Given the description of an element on the screen output the (x, y) to click on. 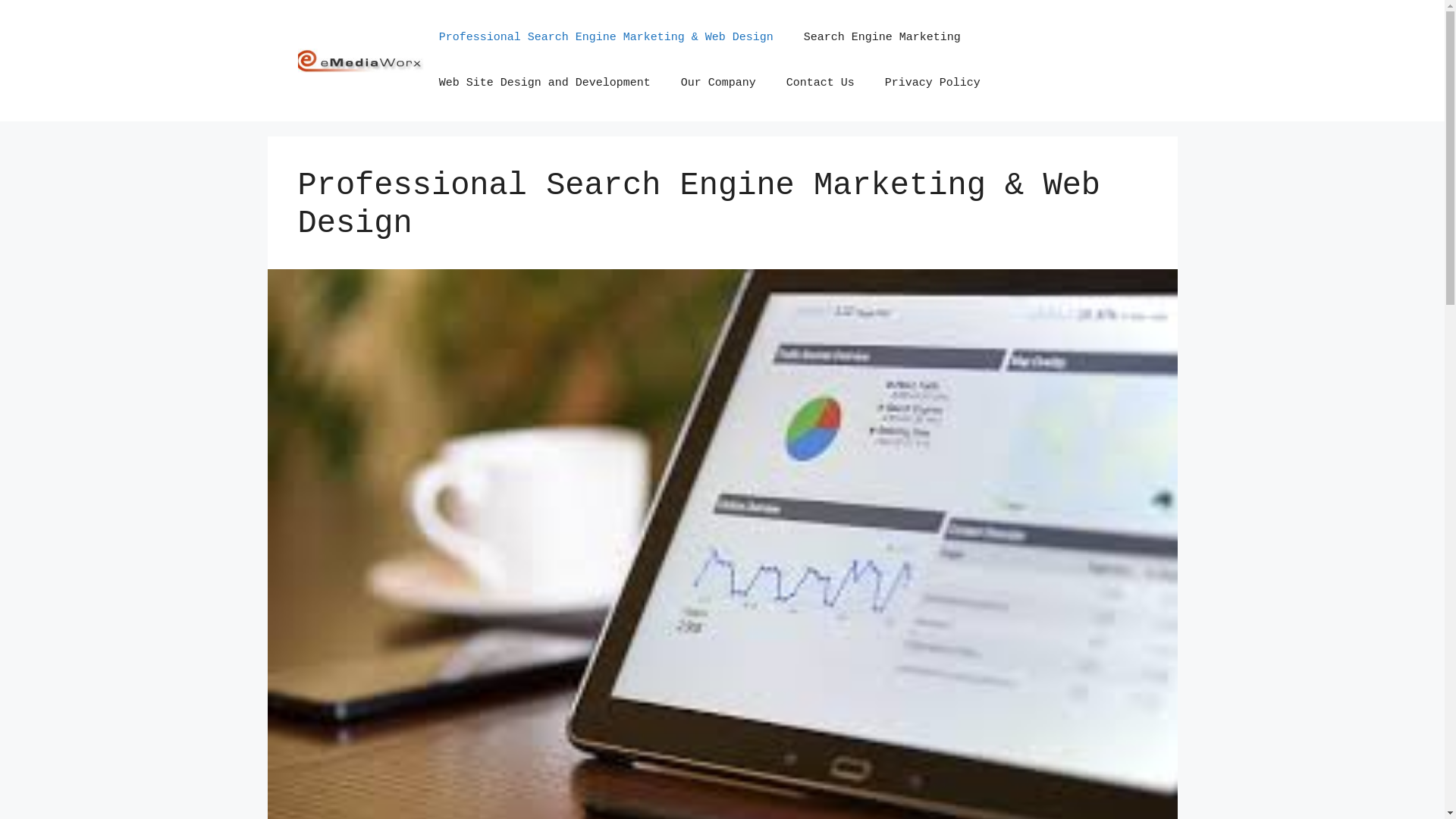
Web Site Design and Development Element type: text (544, 83)
Contact Us Element type: text (820, 83)
Search Engine Marketing Element type: text (881, 37)
Professional Search Engine Marketing & Web Design Element type: text (605, 37)
Our Company Element type: text (718, 83)
Privacy Policy Element type: text (932, 83)
